Given the description of an element on the screen output the (x, y) to click on. 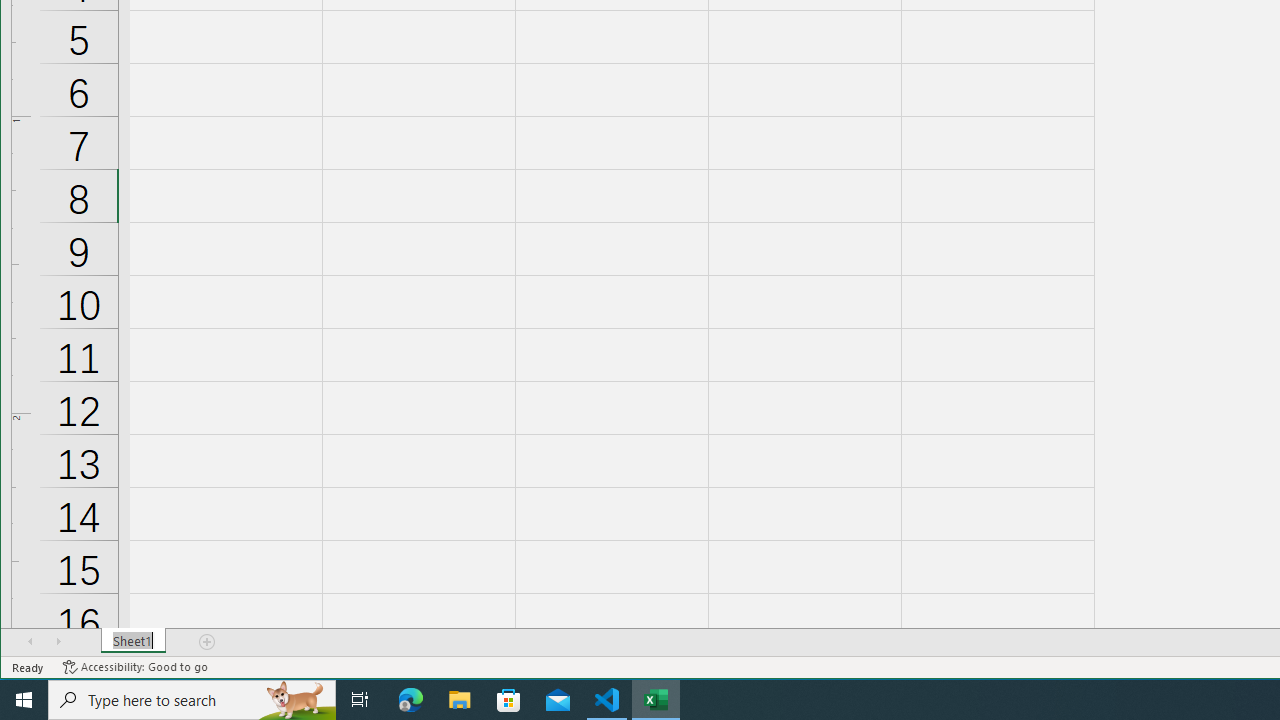
Microsoft Edge (411, 699)
